Given the description of an element on the screen output the (x, y) to click on. 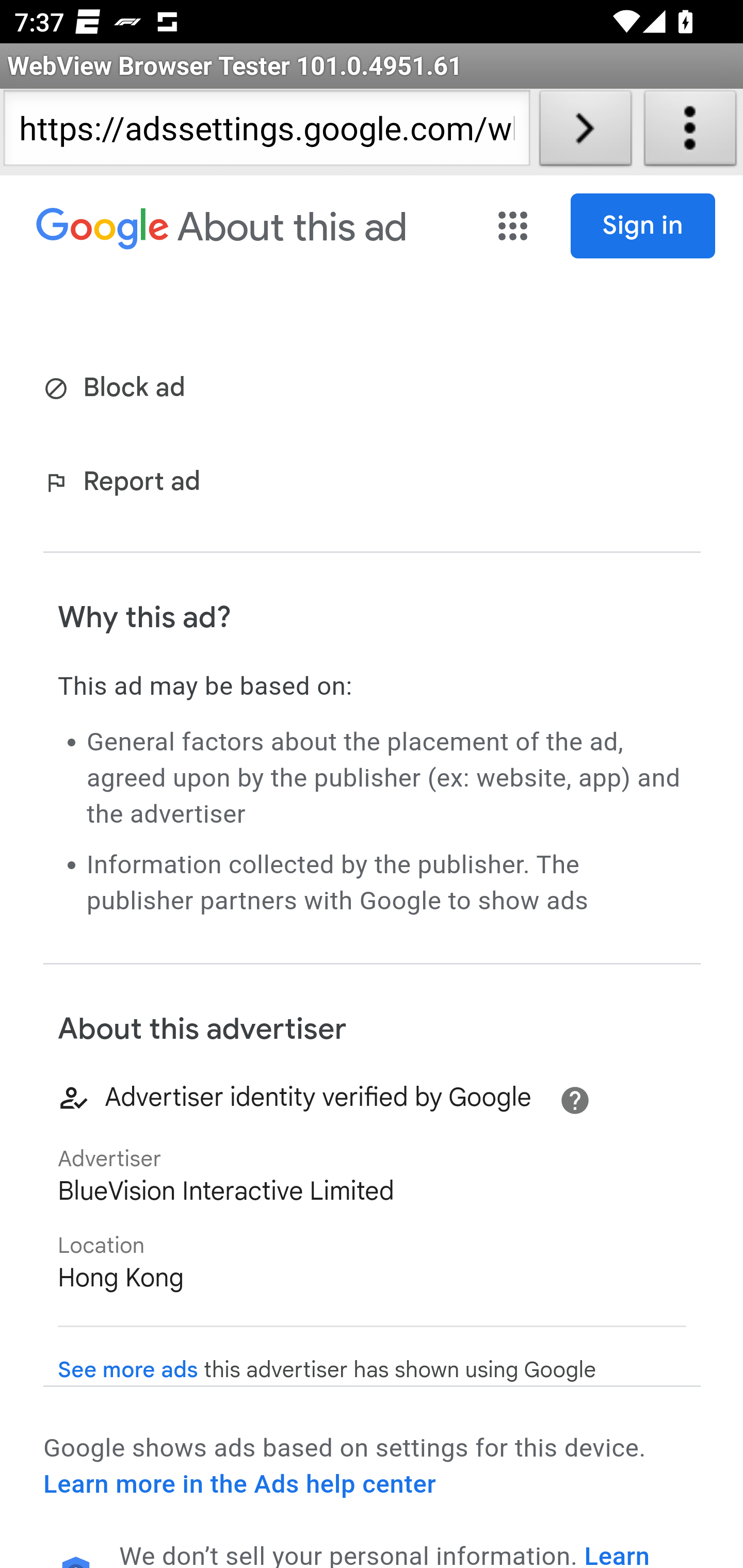
https://adssettings.google.com/whythisad (266, 132)
Load URL (585, 132)
About WebView (690, 132)
Google apps (514, 226)
Sign in (643, 226)
Block ad (117, 388)
Report ad (opens in new tab) Report ad (126, 483)
See more ads (opens in new tab) See more ads (127, 1370)
Learn more in the Ads help center (239, 1483)
Learn how ad personalization works (384, 1553)
